Given the description of an element on the screen output the (x, y) to click on. 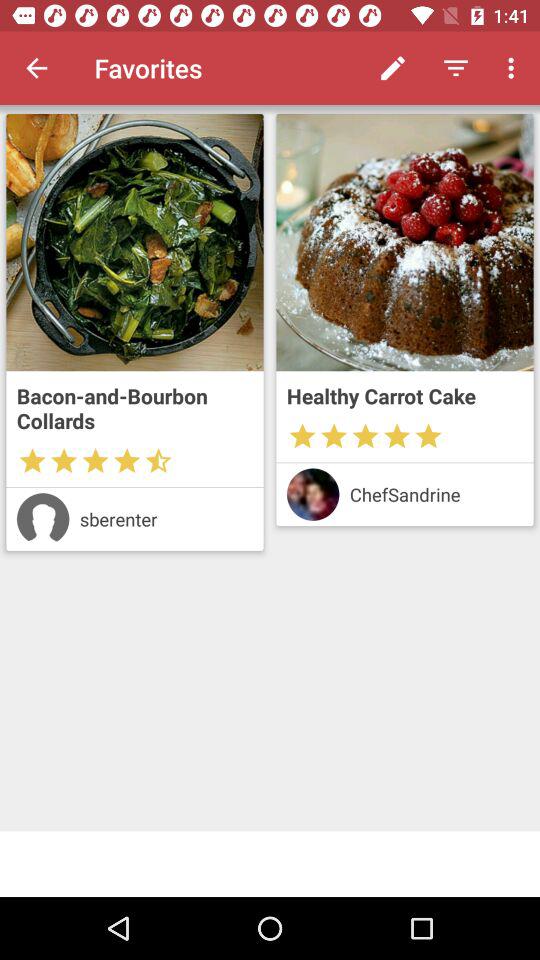
photo of the item selected (134, 242)
